Given the description of an element on the screen output the (x, y) to click on. 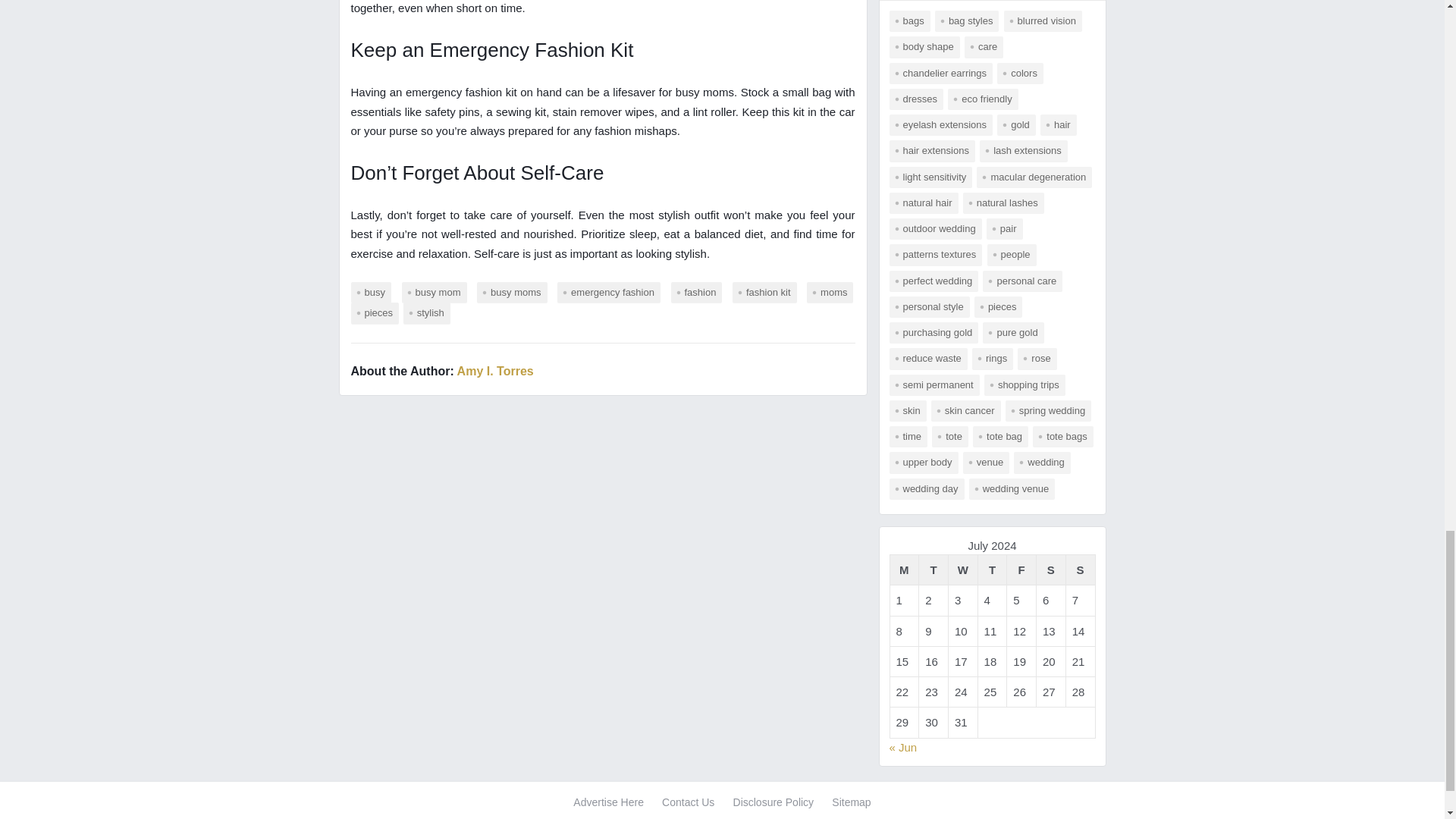
Thursday (991, 570)
Monday (903, 570)
Wednesday (961, 570)
Tuesday (933, 570)
Friday (1021, 570)
